Given the description of an element on the screen output the (x, y) to click on. 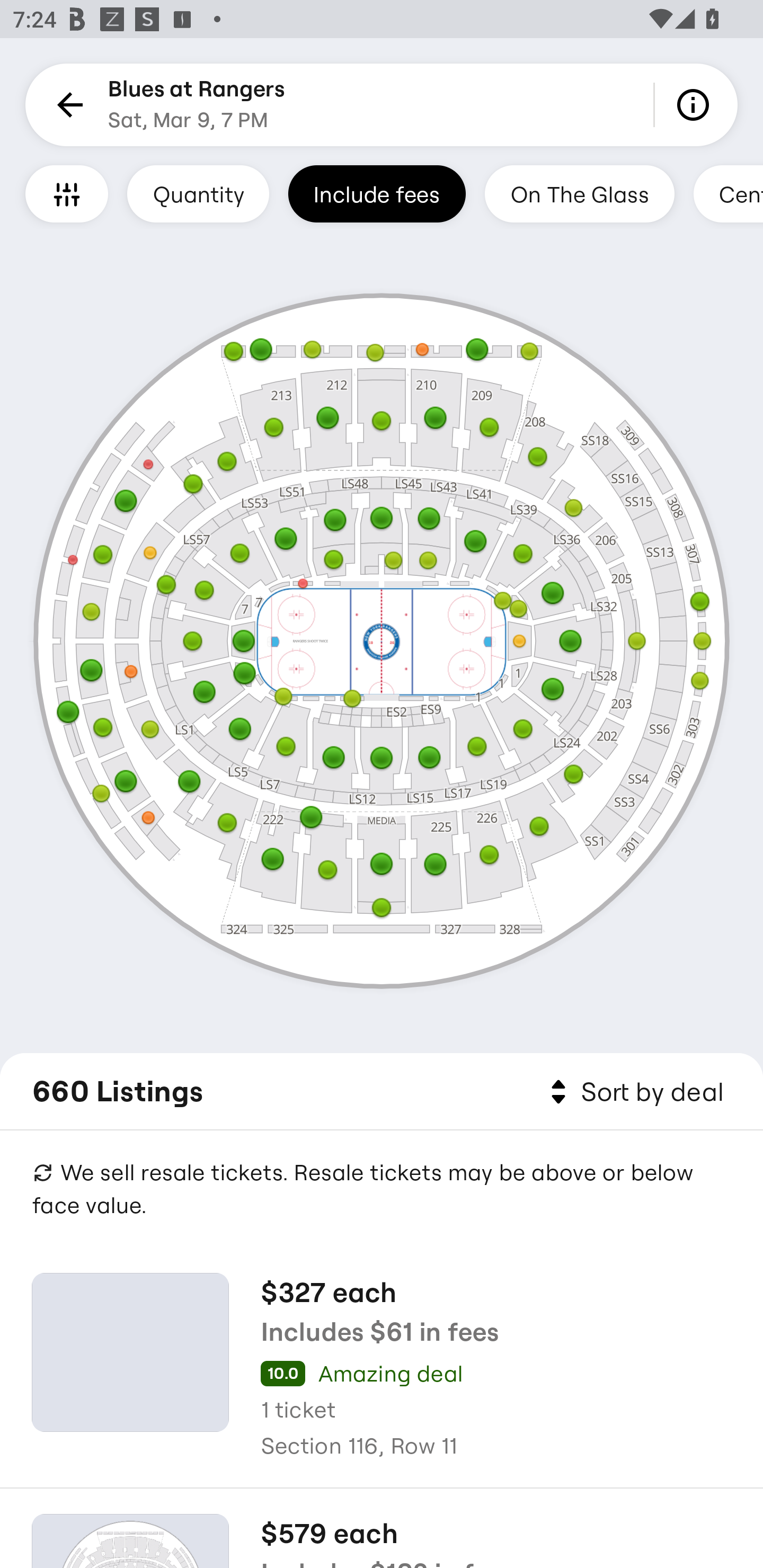
Back (66, 104)
Blues at Rangers Sat, Mar 9, 7 PM (196, 104)
Info (695, 104)
Filters and Accessible Seating (66, 193)
Quantity (198, 193)
Include fees (376, 193)
On The Glass (579, 193)
Sort by deal (633, 1091)
